Given the description of an element on the screen output the (x, y) to click on. 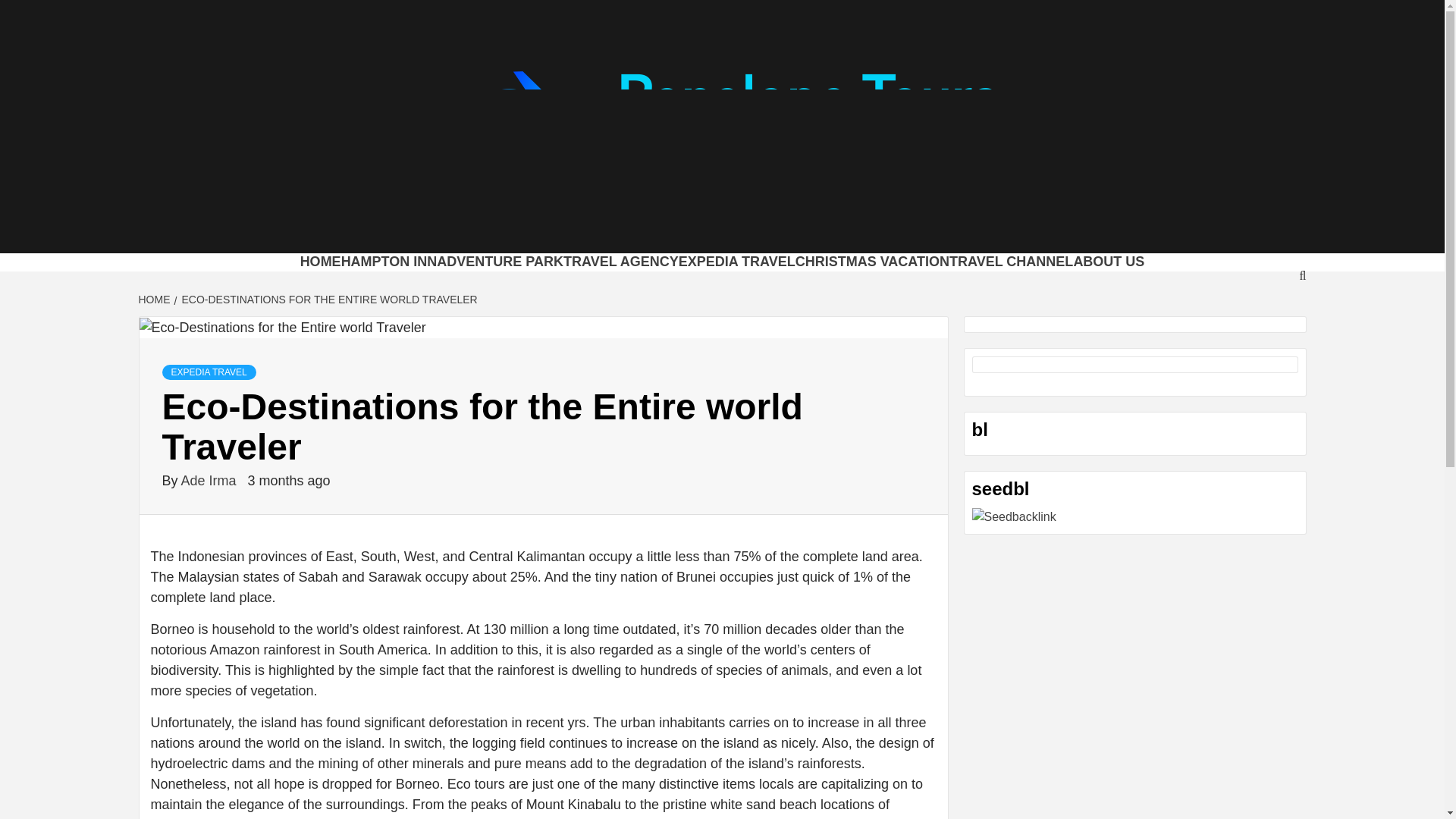
ABOUT US (1108, 261)
ECO-DESTINATIONS FOR THE ENTIRE WORLD TRAVELER (327, 299)
Eco-Destinations for the Entire world Traveler (282, 327)
TRAVEL CHANNEL (1011, 261)
HAMPTON INN (389, 261)
EXPEDIA TRAVEL (736, 261)
CHRISTMAS VACATION (871, 261)
Seedbacklink (1014, 516)
Ade Irma (210, 480)
HOME (319, 261)
EXPEDIA TRAVEL (208, 372)
PENELOPE TOURS (491, 233)
HOME (155, 299)
TRAVEL AGENCY (620, 261)
ADVENTURE PARK (499, 261)
